Given the description of an element on the screen output the (x, y) to click on. 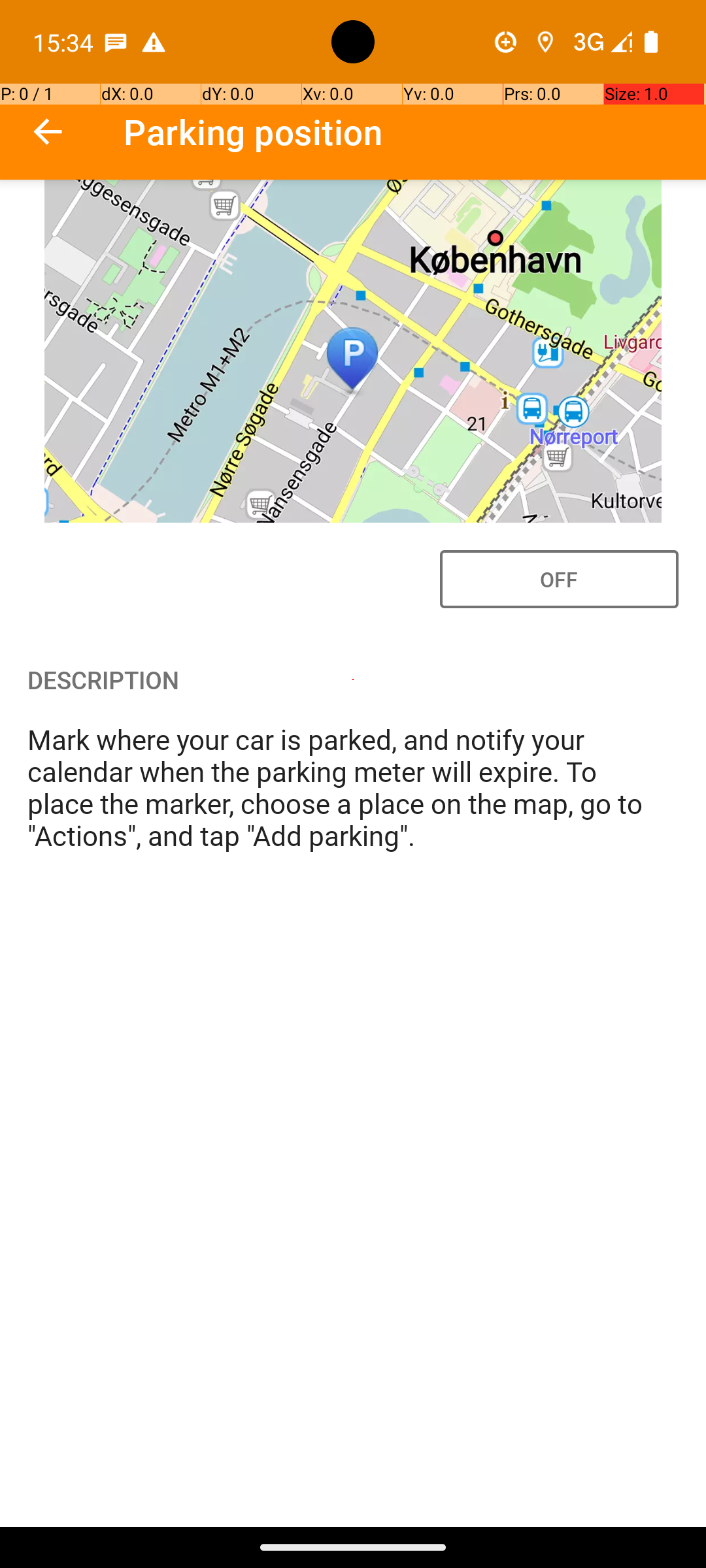
Parking position Element type: android.widget.TextView (253, 131)
OFF Element type: android.widget.ToggleButton (558, 579)
DESCRIPTION Element type: android.widget.TextView (352, 679)
Mark where your car is parked, and notify your calendar when the parking meter will expire. To place the marker, choose a place on the map, go to "Actions", and tap "Add parking". Element type: android.widget.TextView (352, 786)
